Given the description of an element on the screen output the (x, y) to click on. 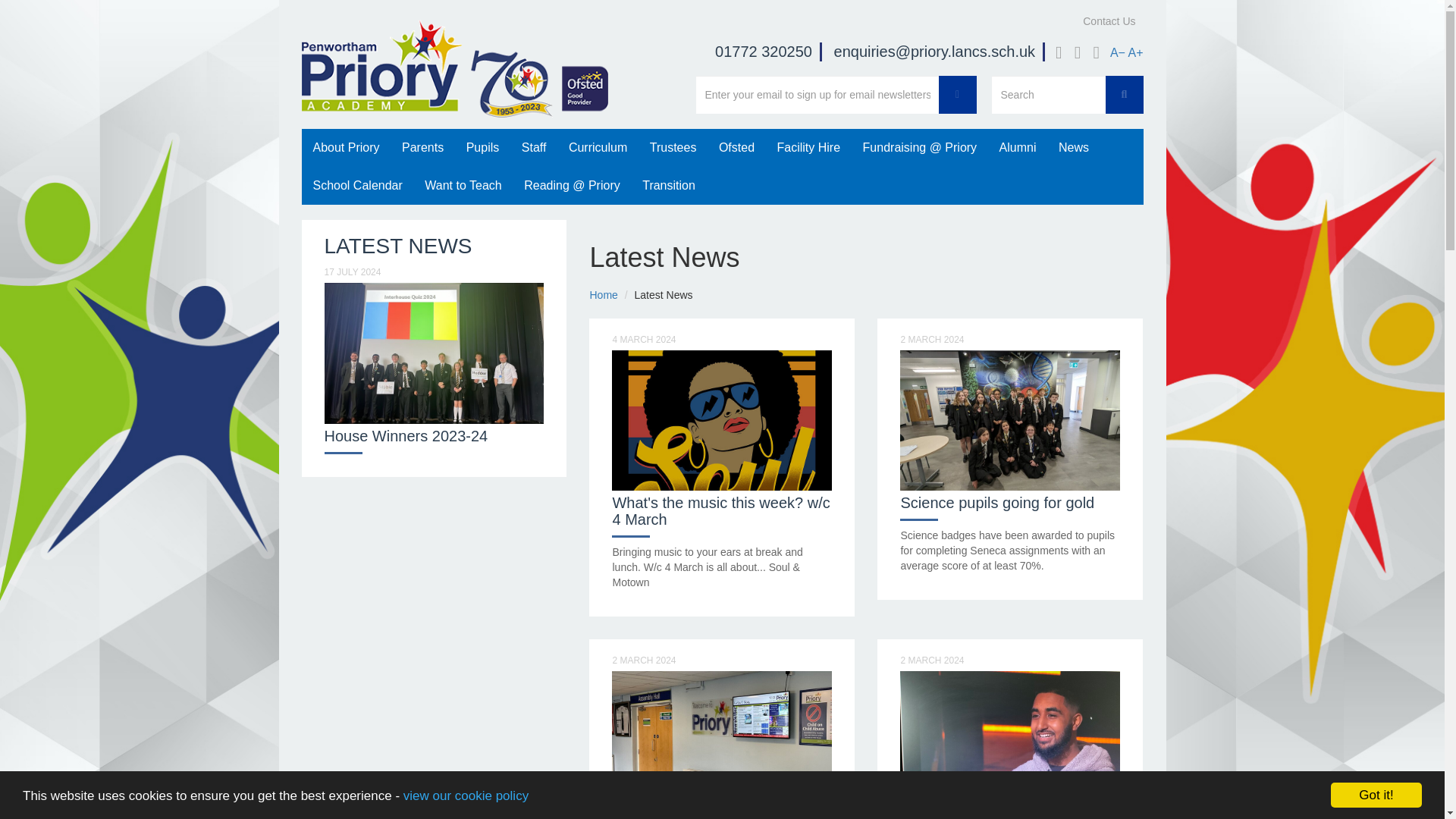
Got it! (1376, 816)
News (1073, 147)
view our cookie policy (465, 816)
Staff (534, 147)
Ofsted (736, 147)
Pupils (482, 147)
About Priory (346, 147)
School Calendar (357, 185)
Parents (422, 147)
Curriculum (598, 147)
Facility Hire (808, 147)
Home (603, 295)
Contact Us (1108, 21)
Science pupils going for gold (996, 502)
Want to Teach (462, 185)
